Given the description of an element on the screen output the (x, y) to click on. 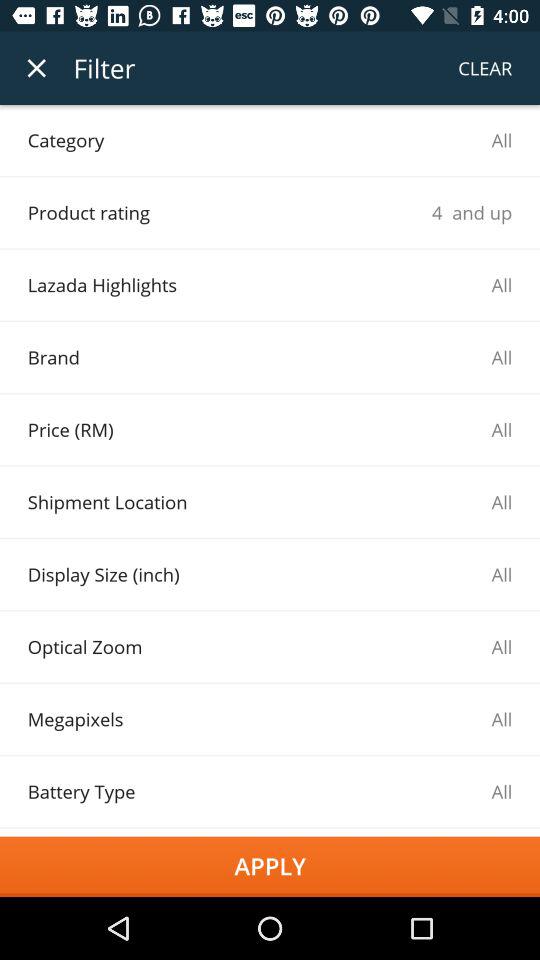
launch the item to the left of the filter item (36, 68)
